Given the description of an element on the screen output the (x, y) to click on. 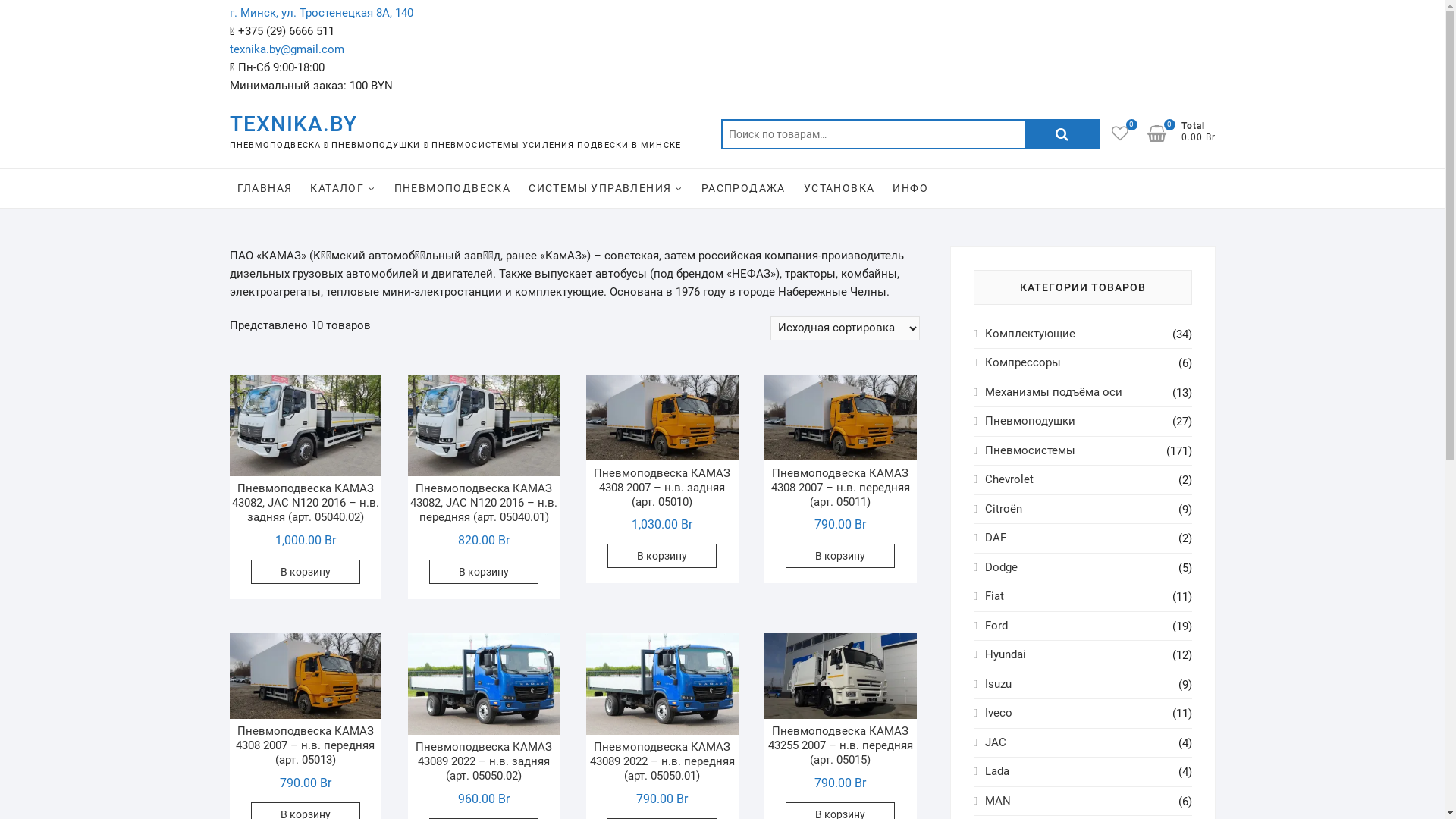
Iveco Element type: text (998, 712)
texnika.by@gmail.com Element type: text (286, 49)
JAC Element type: text (995, 742)
Dodge Element type: text (1001, 567)
MAN Element type: text (997, 800)
Lada Element type: text (997, 771)
Fiat Element type: text (994, 595)
Chevrolet Element type: text (1009, 479)
TEXNIKA.BY Element type: text (454, 123)
DAF Element type: text (995, 537)
0 Element type: text (1163, 133)
Isuzu Element type: text (998, 683)
0 Element type: text (1127, 133)
Hyundai Element type: text (1005, 654)
Ford Element type: text (996, 625)
